Given the description of an element on the screen output the (x, y) to click on. 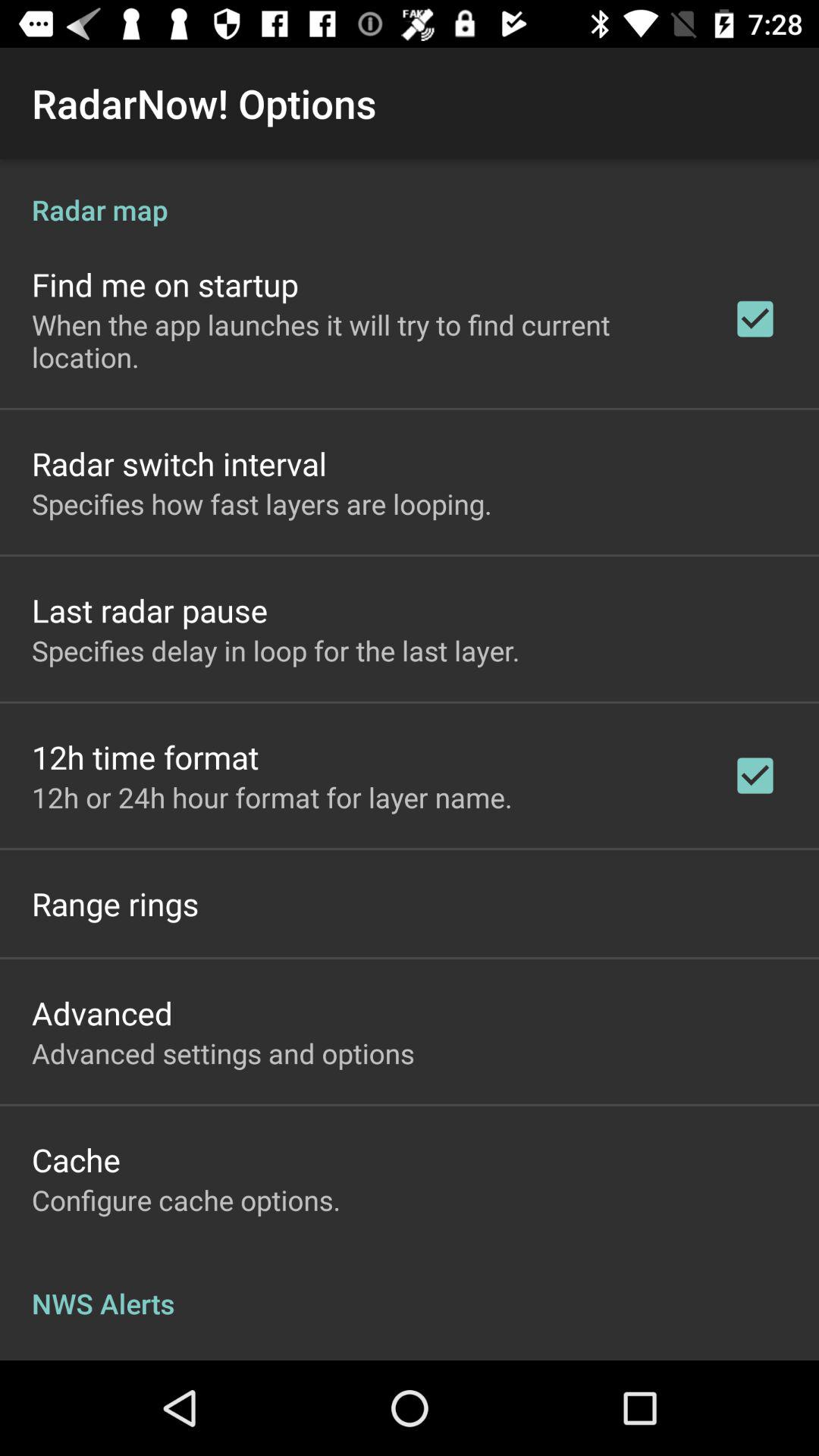
turn off icon below nws alerts (133, 1358)
